Given the description of an element on the screen output the (x, y) to click on. 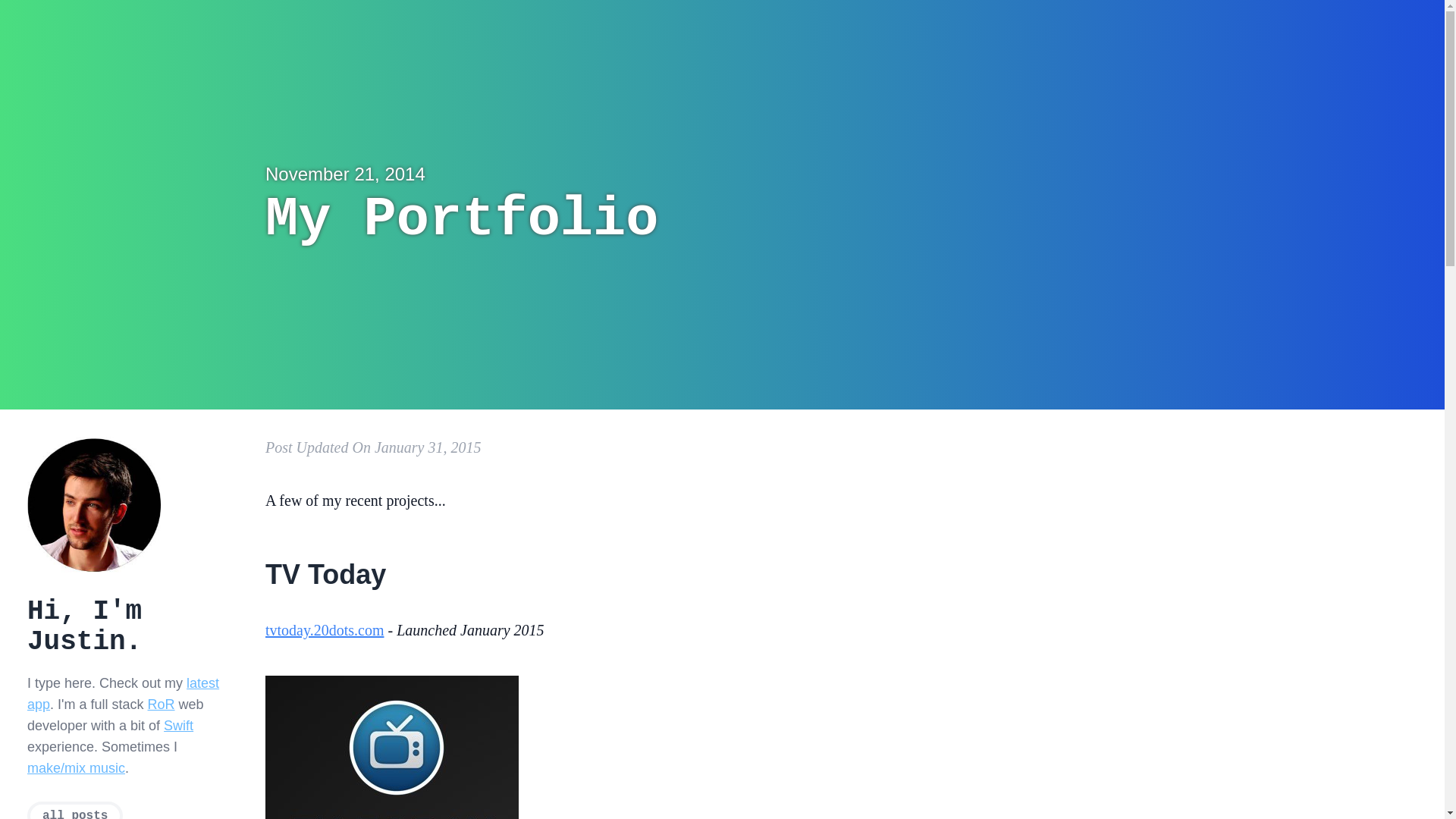
latest app Element type: text (123, 693)
make/mix music Element type: text (76, 767)
Swift Element type: text (178, 725)
RoR Element type: text (161, 704)
tvtoday.20dots.com Element type: text (324, 629)
